Given the description of an element on the screen output the (x, y) to click on. 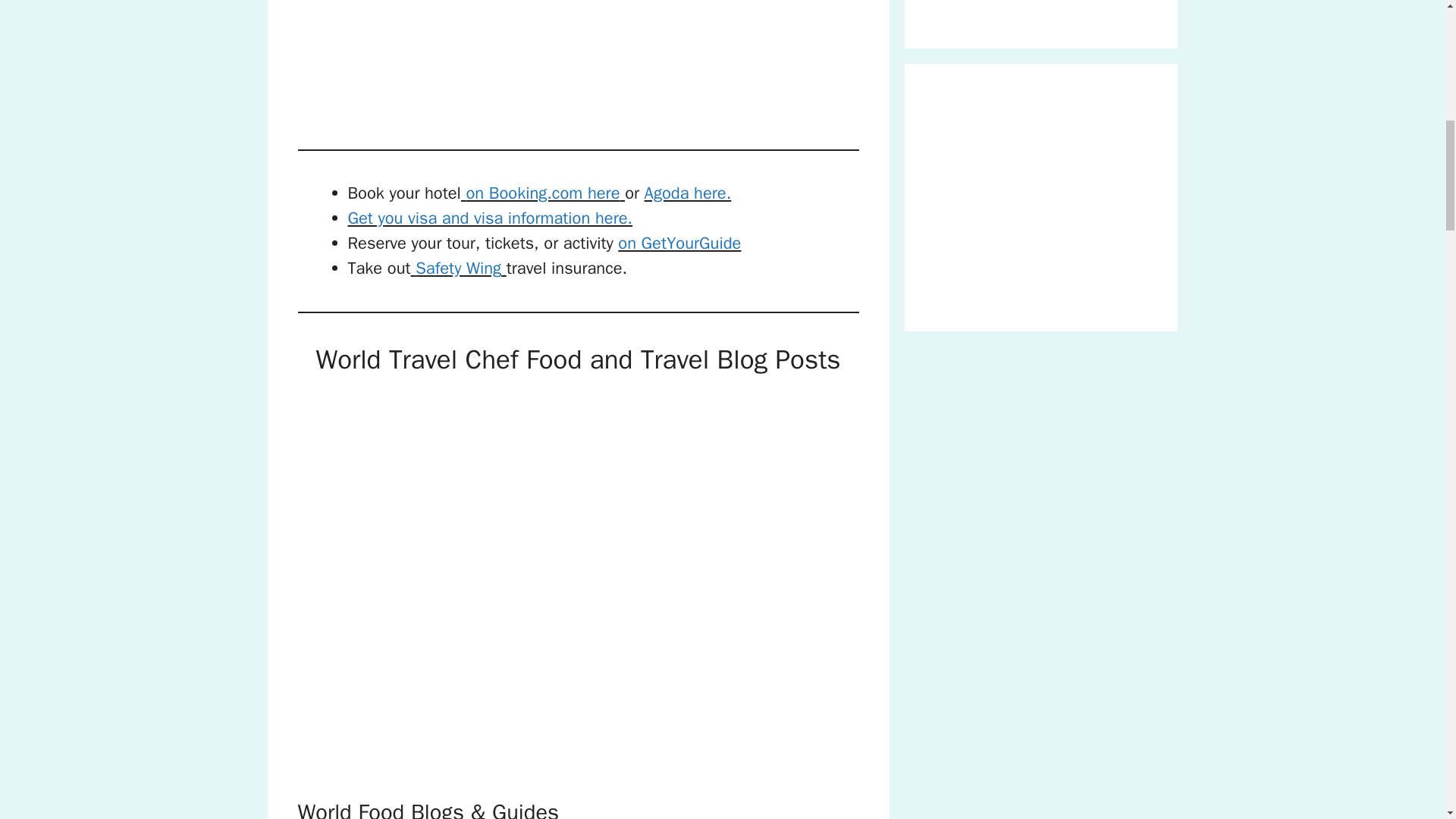
on Booking.com here (542, 192)
Agoda here. (688, 192)
Get you visa and visa information here. (489, 218)
on GetYourGuide (679, 242)
Safety Wing (457, 268)
